Given the description of an element on the screen output the (x, y) to click on. 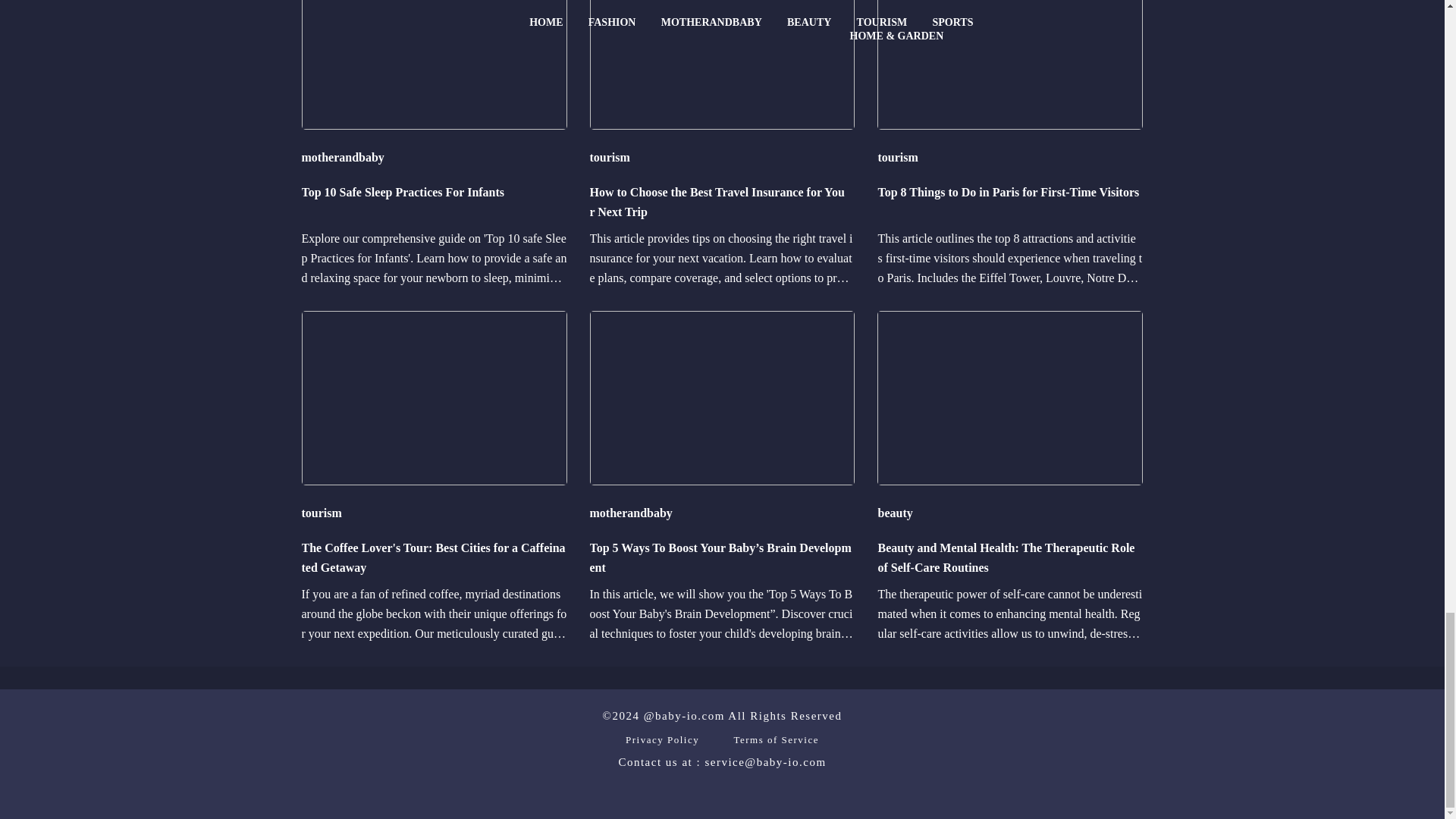
How to Choose the Best Travel Insurance for Your Next Trip (722, 201)
Top 8 Things to Do in Paris for First-Time Visitors (1009, 201)
Privacy Policy (662, 739)
Top 10 Safe Sleep Practices For Infants (434, 201)
Terms of Service (775, 739)
